Given the description of an element on the screen output the (x, y) to click on. 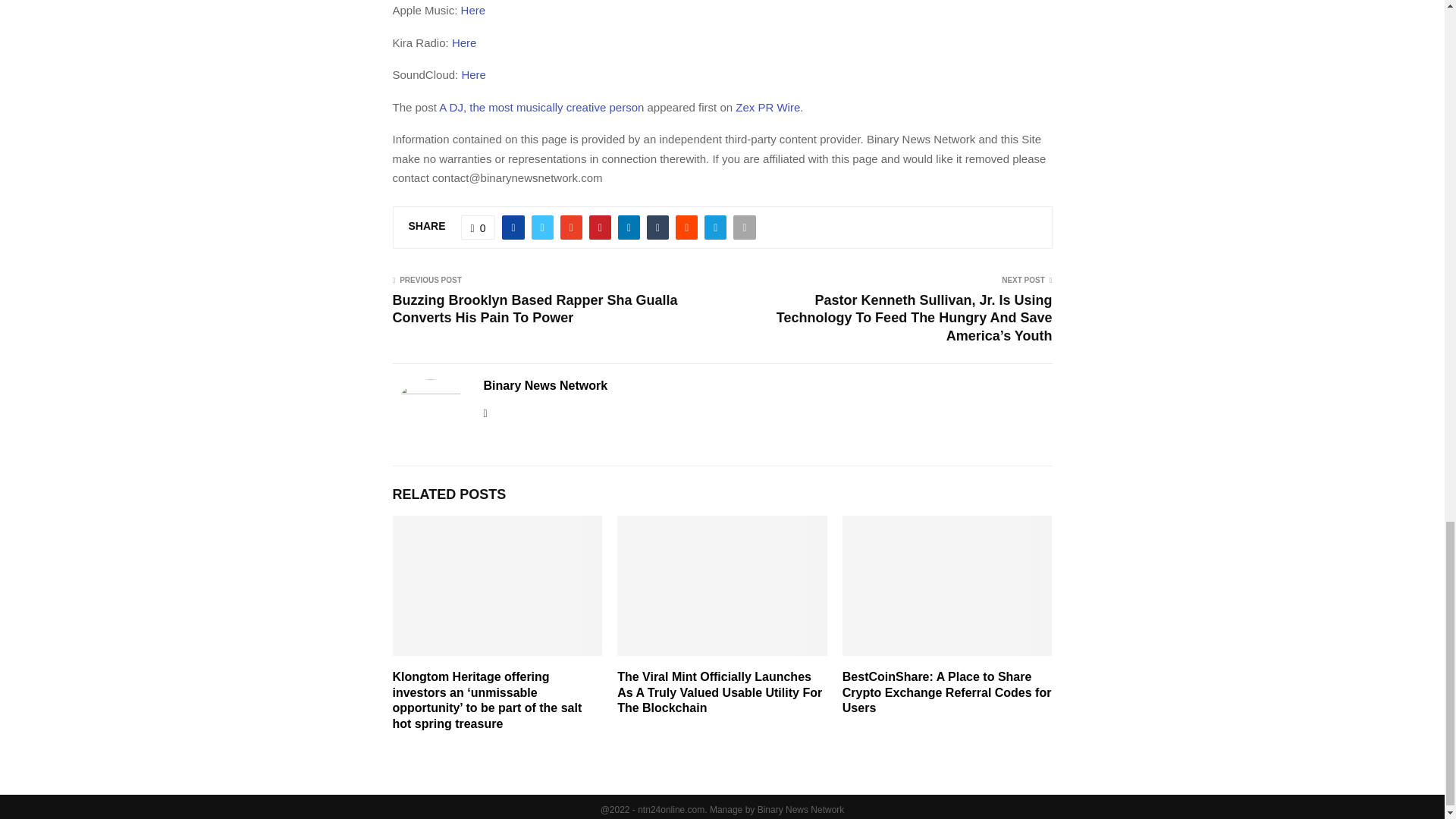
Here (473, 10)
Here (464, 42)
Zex PR Wire (767, 106)
0 (478, 227)
A DJ, the most musically creative person (541, 106)
Here (473, 74)
Like (478, 227)
Posts by Binary News Network (545, 385)
